Given the description of an element on the screen output the (x, y) to click on. 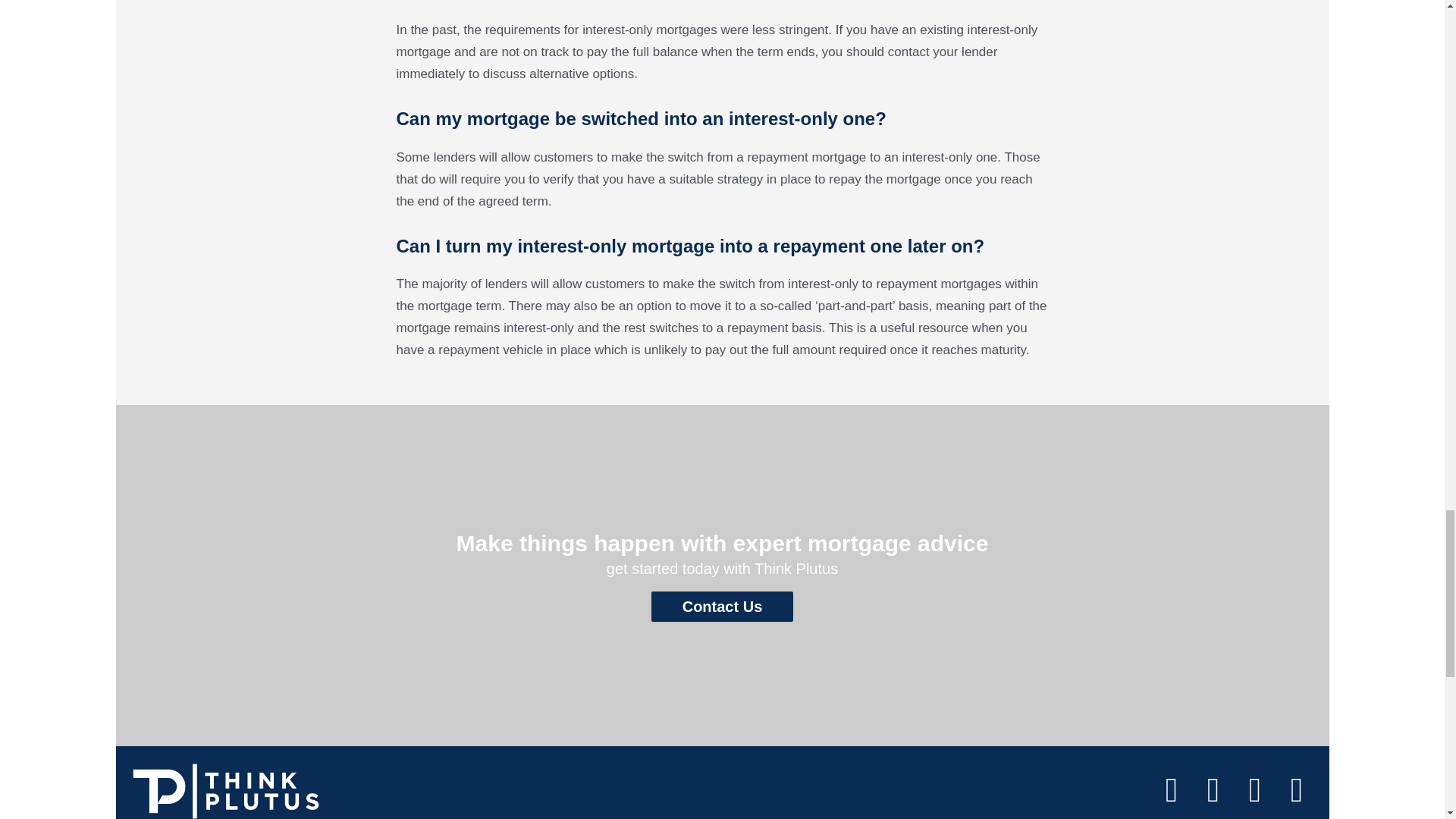
Think Plutus logo (225, 790)
